Given the description of an element on the screen output the (x, y) to click on. 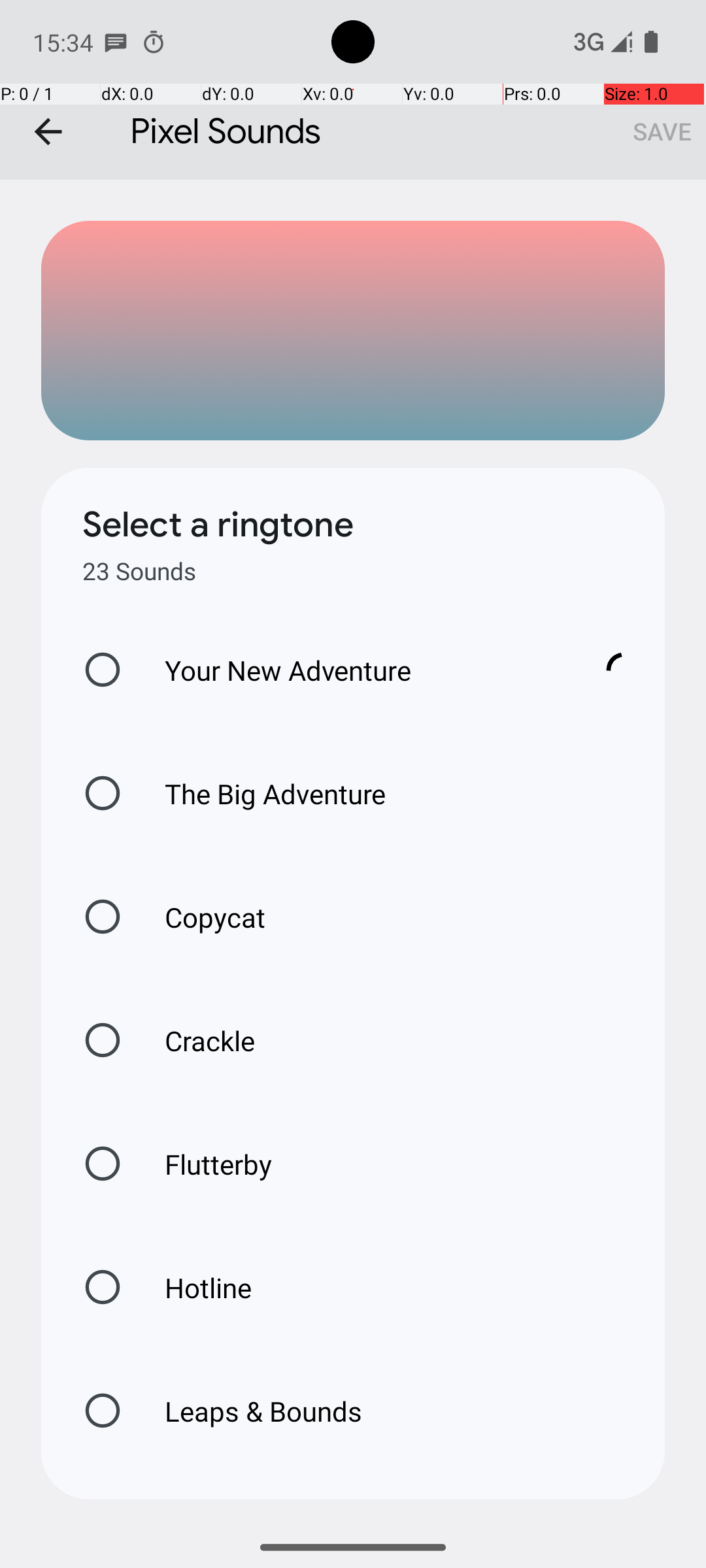
Your New Adventure Element type: android.widget.TextView (359, 669)
The Big Adventure Element type: android.widget.TextView (261, 793)
Copycat Element type: android.widget.TextView (201, 916)
Crackle Element type: android.widget.TextView (196, 1040)
Flutterby Element type: android.widget.TextView (204, 1163)
Hotline Element type: android.widget.TextView (194, 1287)
Leaps & Bounds Element type: android.widget.TextView (249, 1410)
